Given the description of an element on the screen output the (x, y) to click on. 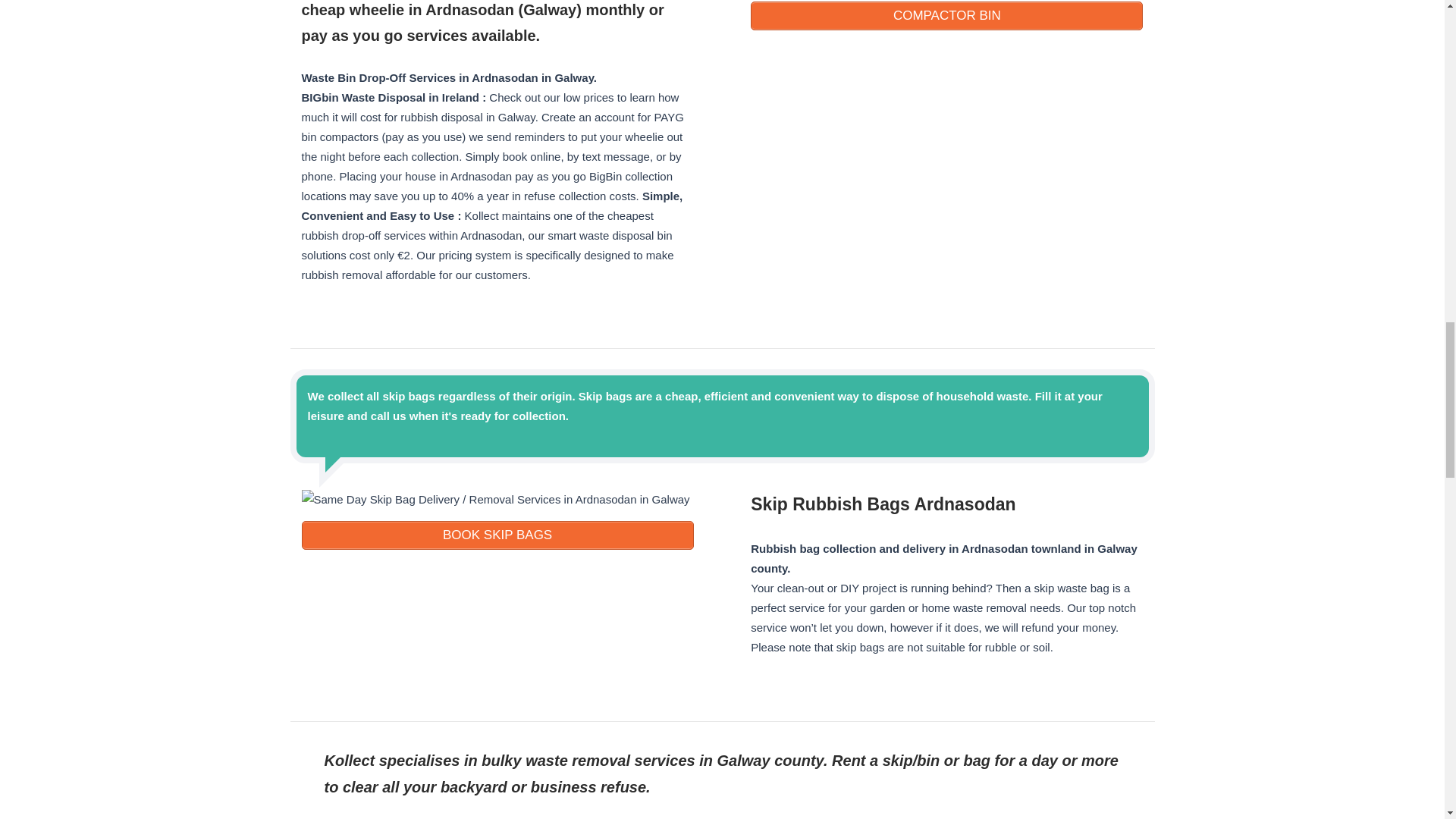
COMPACTOR BIN (946, 15)
COMPACTOR BIN (946, 15)
BOOK SKIP BAGS (497, 534)
RENT RUBBISH BAGS (497, 534)
